Given the description of an element on the screen output the (x, y) to click on. 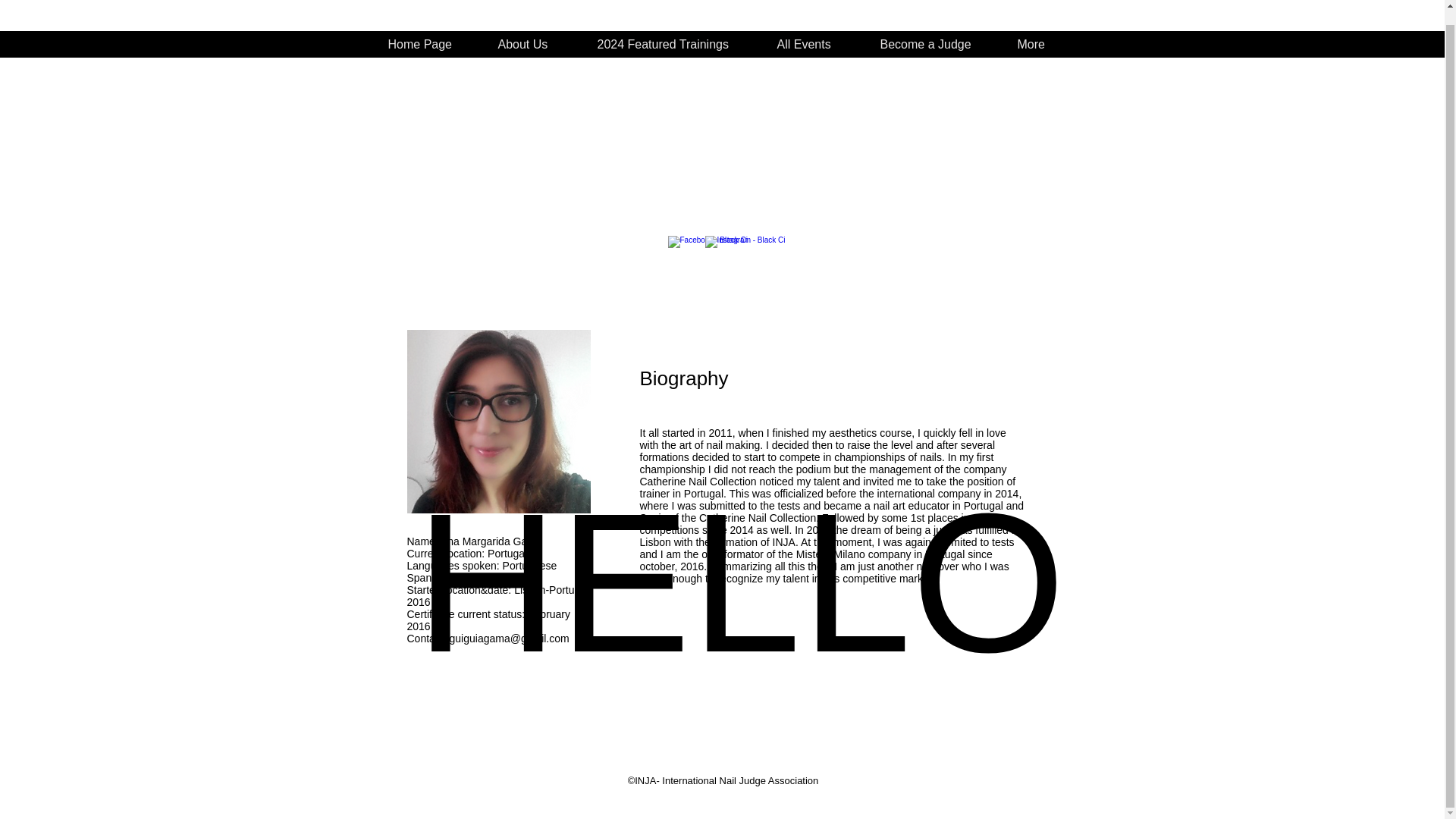
About Us (528, 44)
Home Page (423, 44)
2024 Featured Trainings (667, 44)
Become a Judge (740, 590)
